Given the description of an element on the screen output the (x, y) to click on. 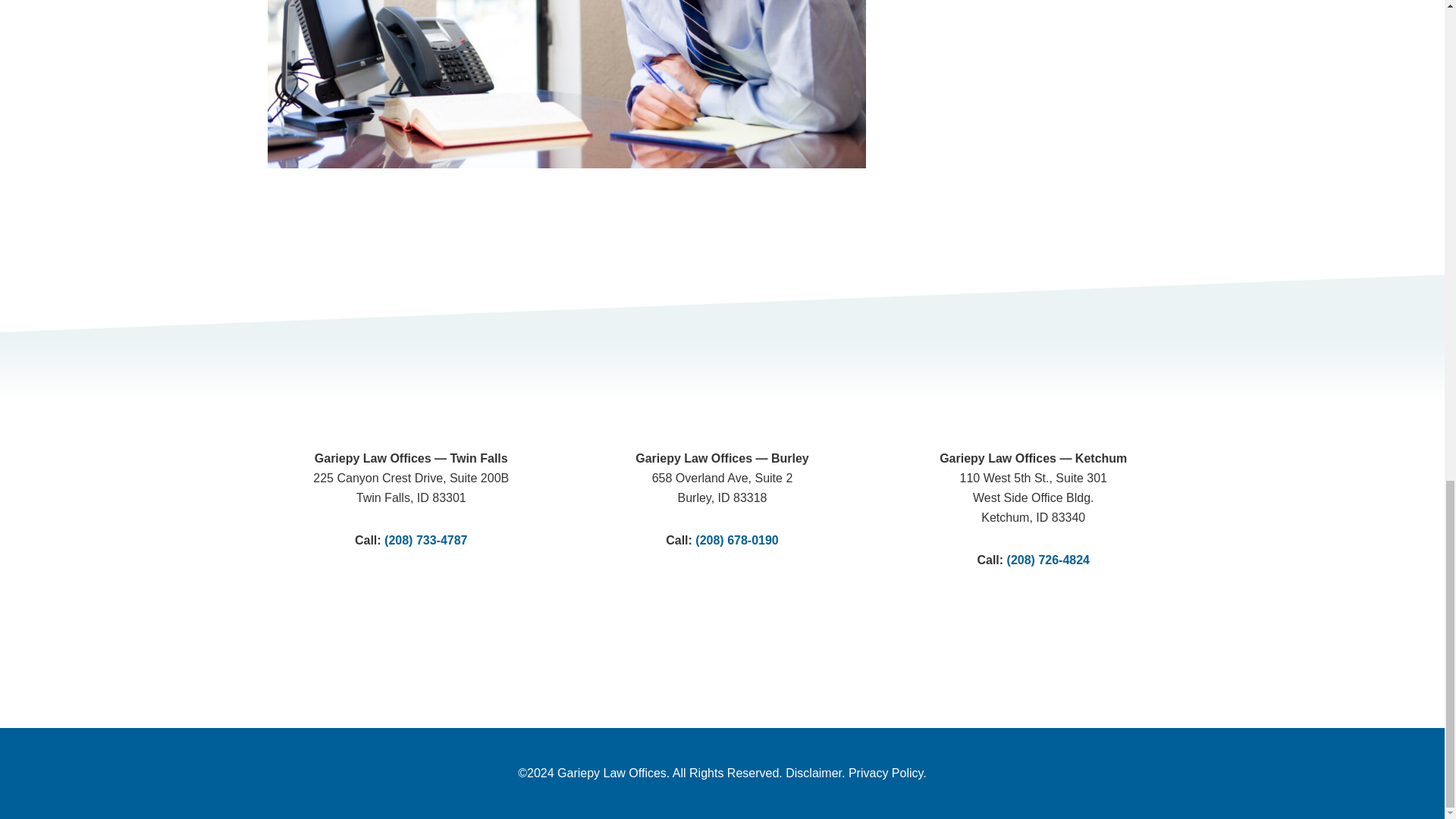
Privacy Policy (885, 772)
Disclaimer (813, 772)
